Given the description of an element on the screen output the (x, y) to click on. 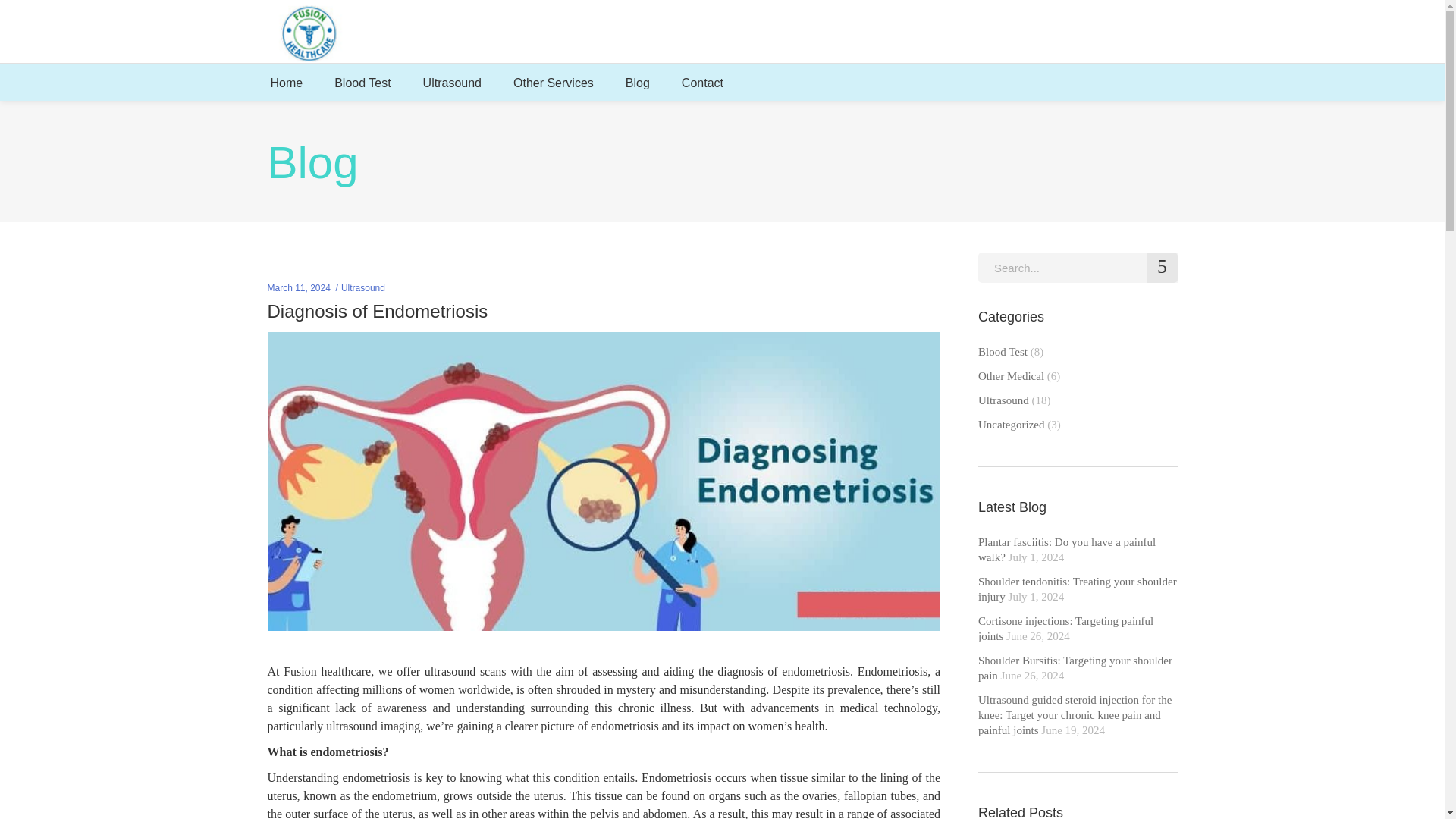
Search for: (1077, 267)
Home (286, 81)
Blood Test (362, 81)
